Given the description of an element on the screen output the (x, y) to click on. 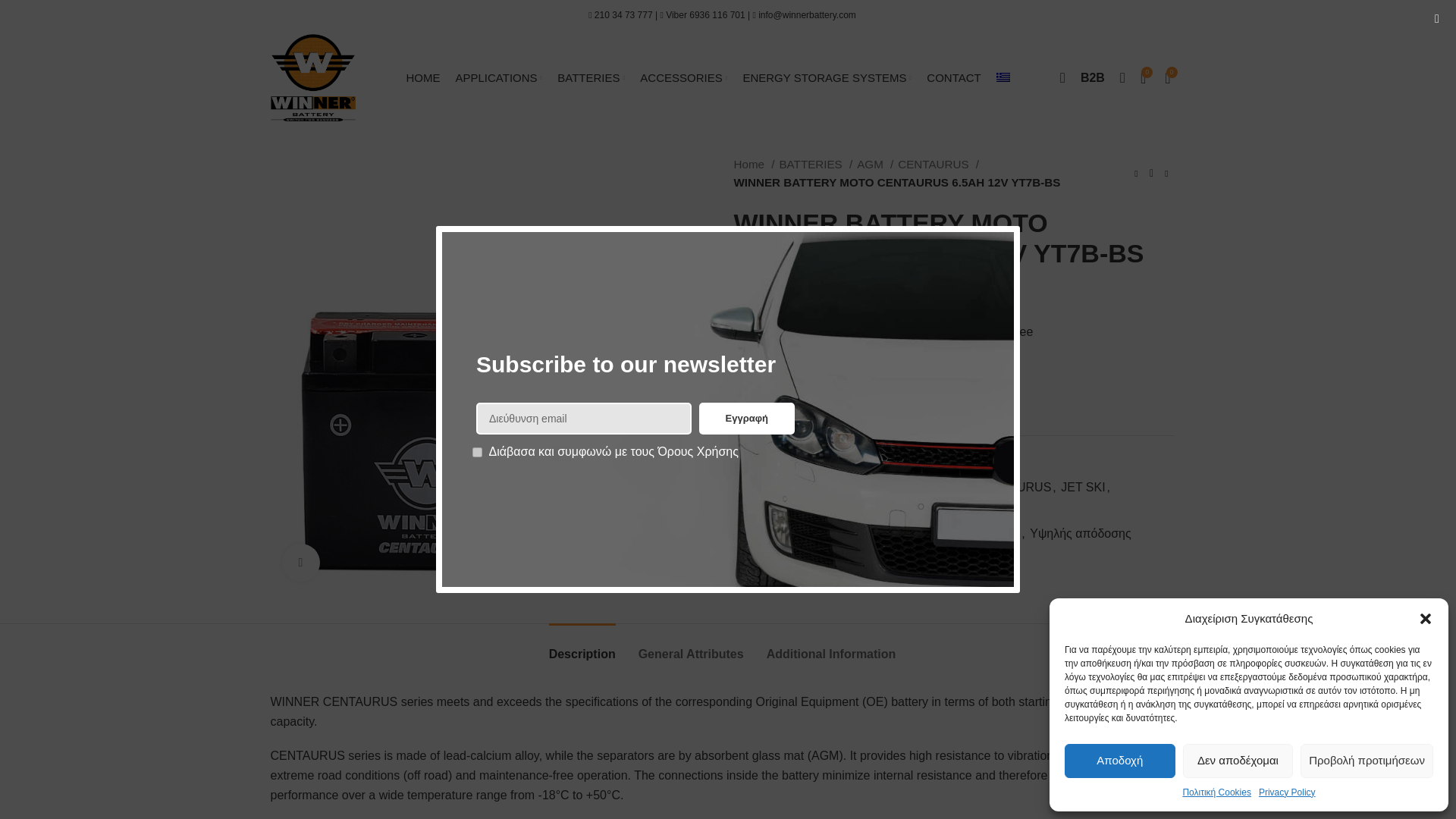
210 34 73 777 (623, 14)
APPLICATIONS (498, 77)
Privacy Policy (1287, 792)
HOME (421, 77)
1 (476, 452)
